Given the description of an element on the screen output the (x, y) to click on. 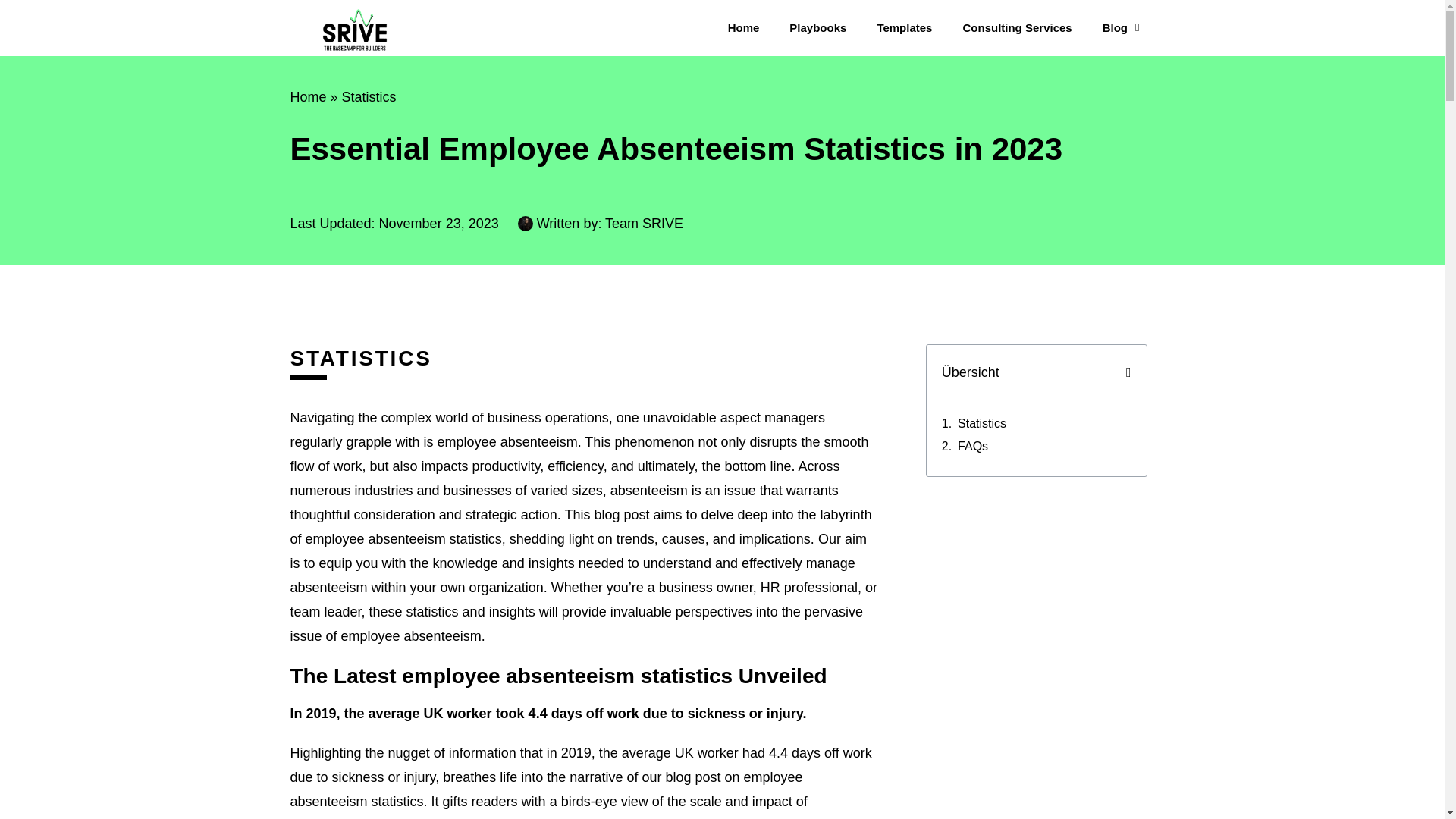
Playbooks (817, 27)
Written by: Team SRIVE (600, 223)
FAQs (973, 446)
Statistics (982, 423)
Statistics (369, 96)
Templates (904, 27)
Home (743, 27)
Blog (1120, 27)
Consulting Services (1016, 27)
Home (307, 96)
